Given the description of an element on the screen output the (x, y) to click on. 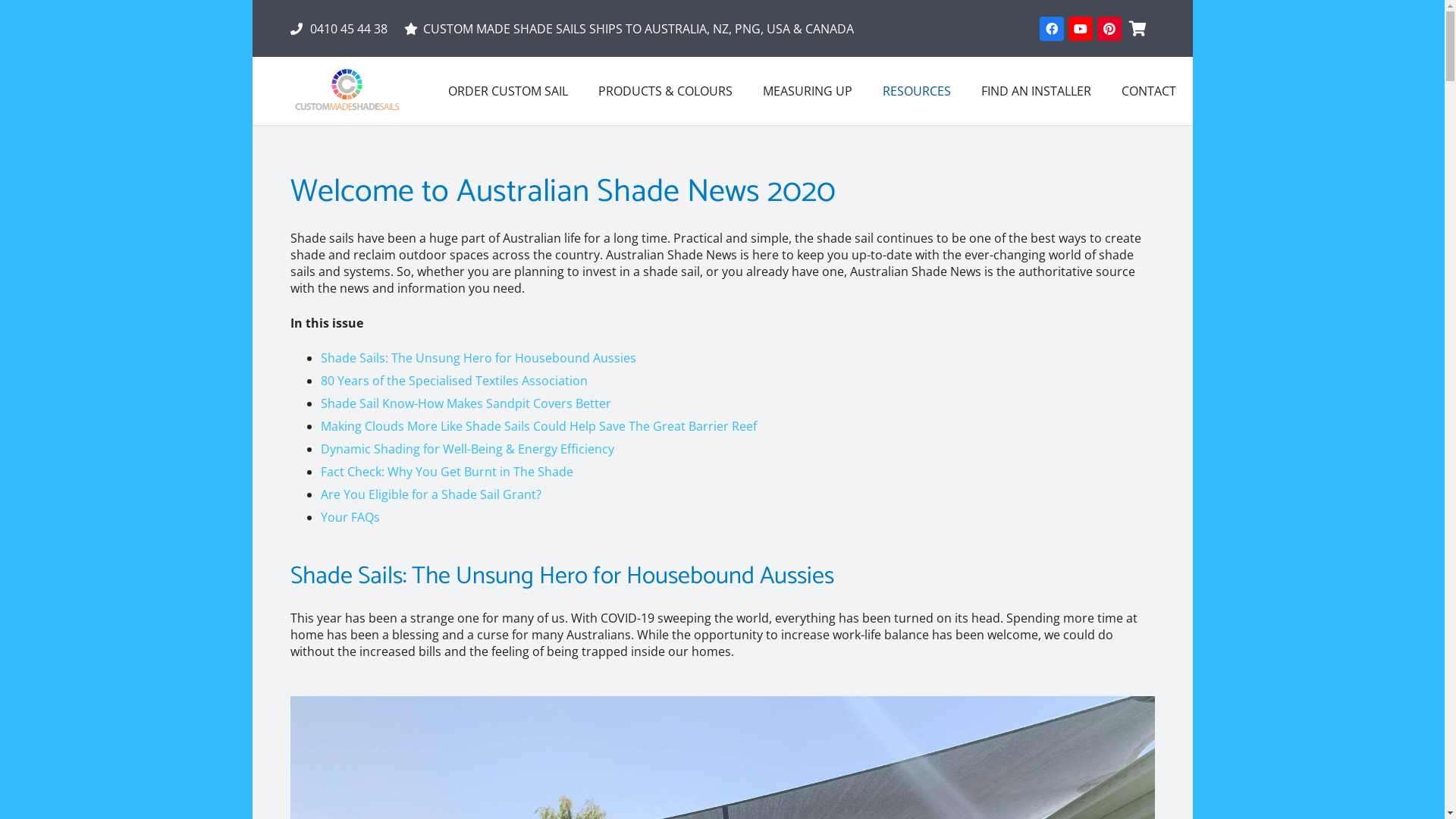
Dynamic Shading for Well-Being & Energy Efficiency Element type: text (466, 448)
FIND AN INSTALLER Element type: text (1036, 90)
Are You Eligible for a Shade Sail Grant? Element type: text (430, 494)
Your FAQs Element type: text (349, 516)
0410 45 44 38 Element type: text (337, 27)
80 Years of the Specialised Textiles Association Element type: text (453, 380)
MEASURING UP Element type: text (807, 90)
PRODUCTS & COLOURS Element type: text (665, 90)
CONTACT Element type: text (1148, 90)
Shade Sail Know-How Makes Sandpit Covers Better Element type: text (465, 403)
Pinterest Element type: hover (1109, 28)
YouTube Element type: hover (1080, 28)
ORDER CUSTOM SAIL Element type: text (508, 90)
Facebook Element type: hover (1051, 28)
RESOURCES Element type: text (916, 90)
Shade Sails: The Unsung Hero for Housebound Aussies Element type: text (477, 357)
Fact Check: Why You Get Burnt in The Shade Element type: text (446, 471)
0 Element type: text (1137, 28)
